Given the description of an element on the screen output the (x, y) to click on. 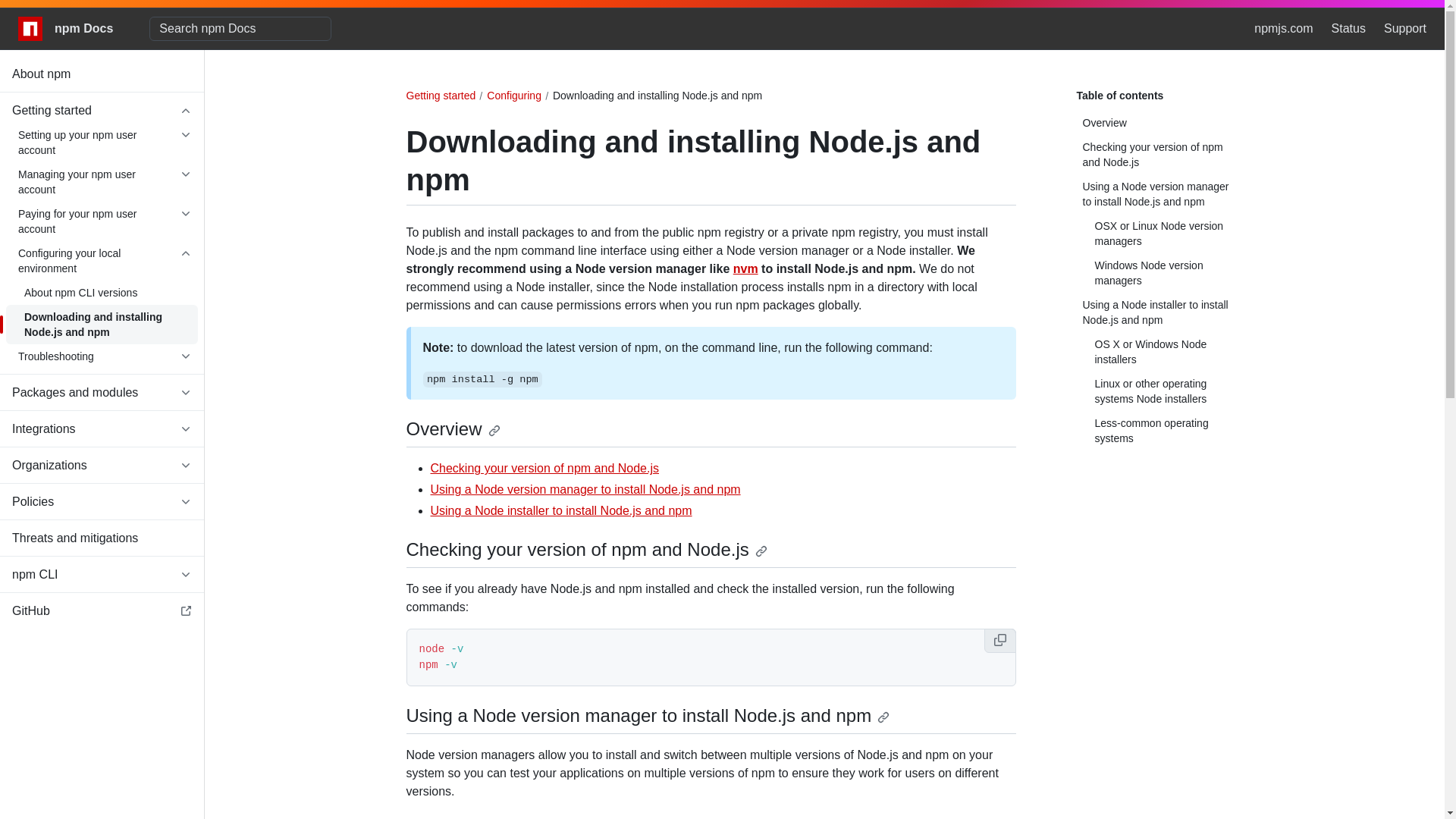
Packages and modules (101, 392)
Getting started (101, 110)
Managing your npm user account (101, 181)
Status (1348, 28)
About npm (101, 74)
Paying for your npm user account (101, 220)
About npm CLI versions (101, 292)
Configuring your local environment (101, 260)
npmjs.com (1283, 28)
Troubleshooting (101, 355)
Downloading and installing Node.js and npm (101, 323)
Support (1405, 28)
npm Docs (65, 28)
Setting up your npm user account (101, 142)
